Given the description of an element on the screen output the (x, y) to click on. 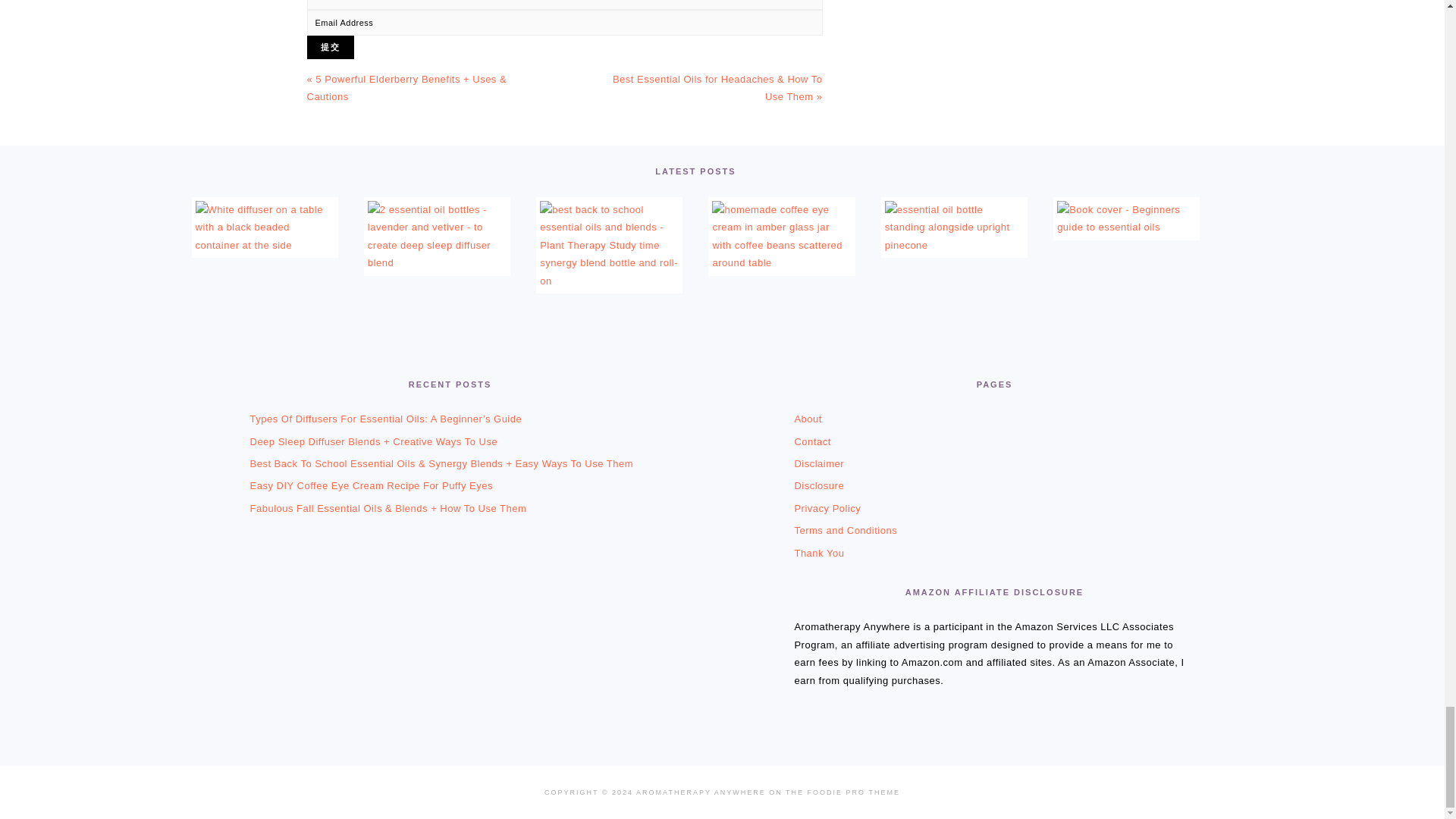
Contact (811, 441)
About (807, 419)
Disclaimer (818, 463)
Easy DIY Coffee Eye Cream Recipe For Puffy Eyes (780, 262)
Best Essential Oil Books For Beginners Written By Experts (1126, 226)
Easy DIY Coffee Eye Cream Recipe For Puffy Eyes (371, 485)
